Given the description of an element on the screen output the (x, y) to click on. 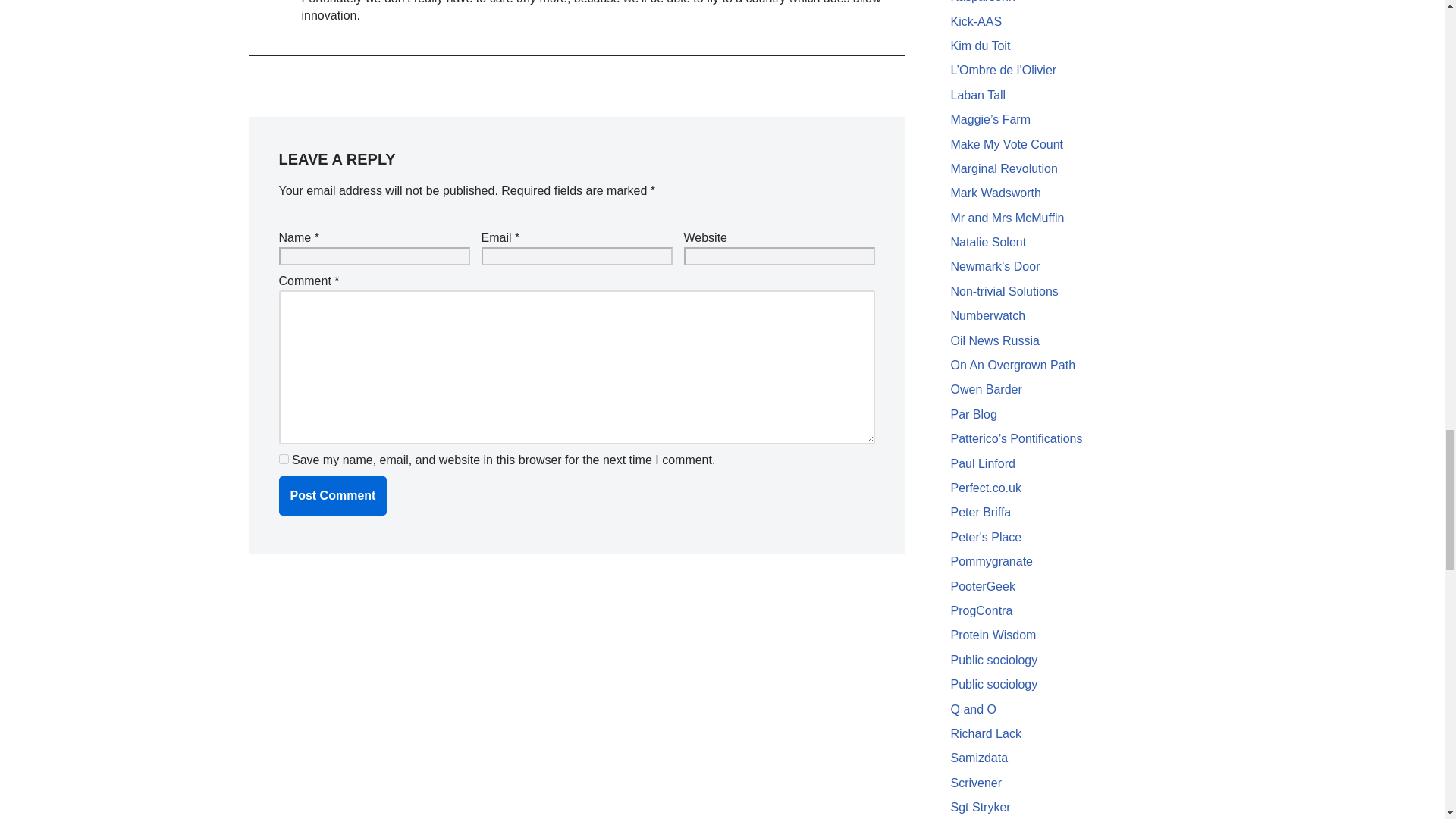
Even more shite than me apparently (994, 684)
yes (283, 459)
Even more shite than me apparently (994, 659)
Post Comment (333, 495)
Post Comment (333, 495)
